Given the description of an element on the screen output the (x, y) to click on. 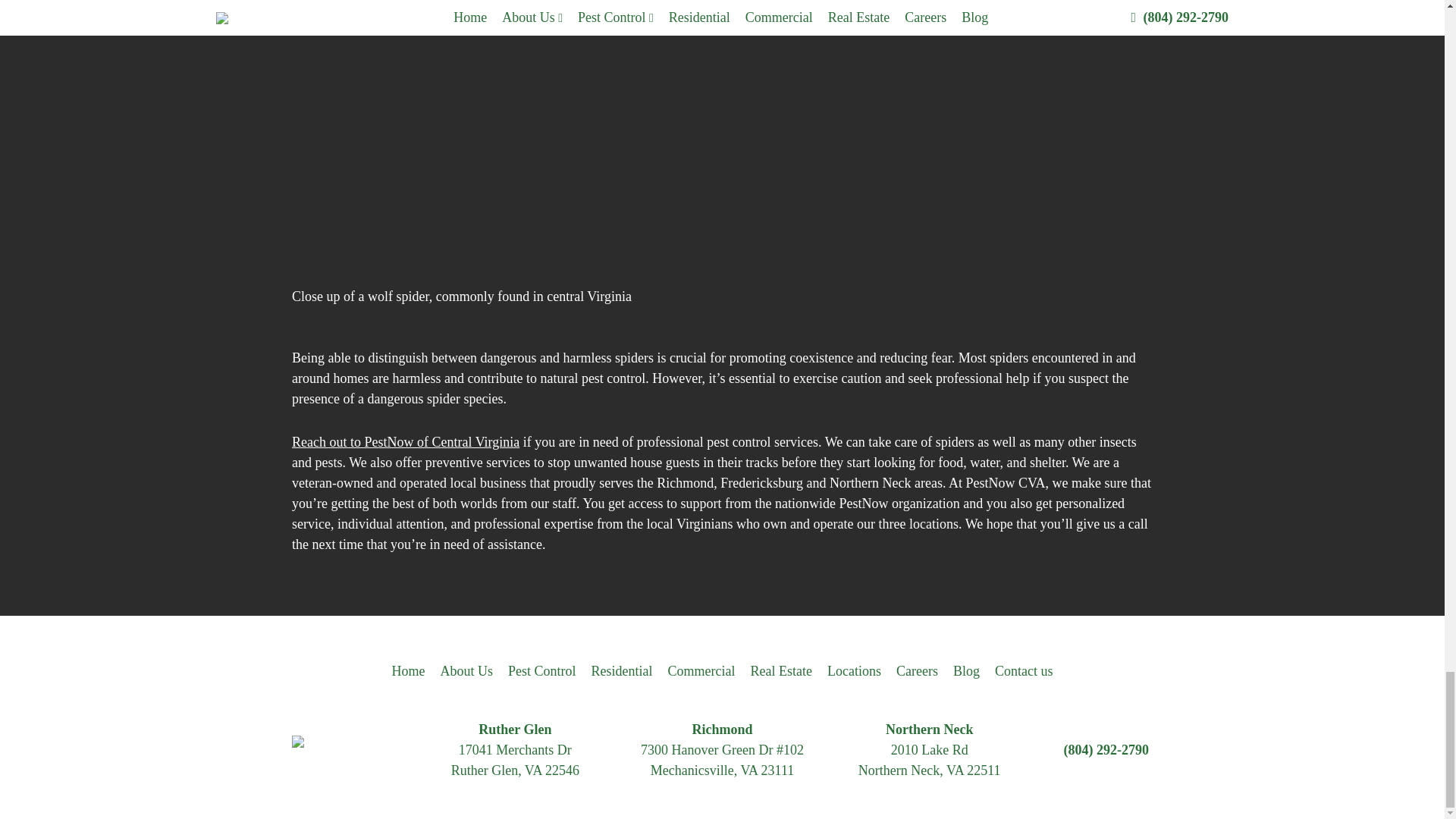
Residential (621, 670)
Pest Control (542, 670)
Reach out to PestNow of Central Virginia (405, 441)
Home (408, 670)
Real Estate (781, 670)
Commercial (701, 670)
About Us (467, 670)
